Given the description of an element on the screen output the (x, y) to click on. 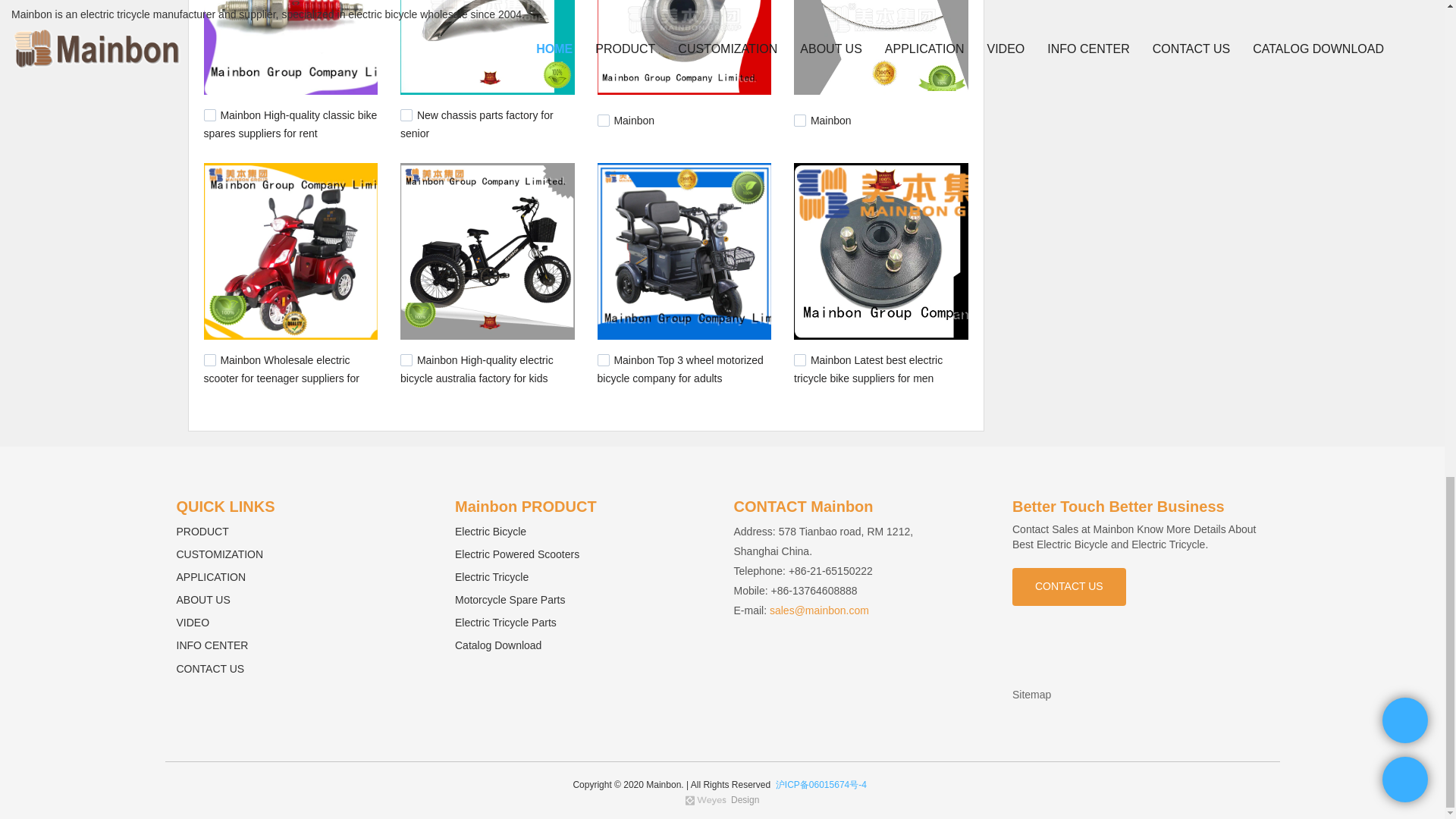
4312 (209, 359)
Mainbon Latest best electric tricycle bike suppliers for men (867, 368)
Mainbon (632, 120)
4565 (799, 120)
New chassis parts factory for senior (476, 123)
2835 (406, 359)
Mainbon Top 3 wheel motorized bicycle company for adults (679, 368)
4935 (406, 114)
Mainbon High-quality classic bike spares suppliers for rent (290, 123)
5047 (209, 114)
4796 (603, 120)
1035 (799, 359)
1798 (603, 359)
